Given the description of an element on the screen output the (x, y) to click on. 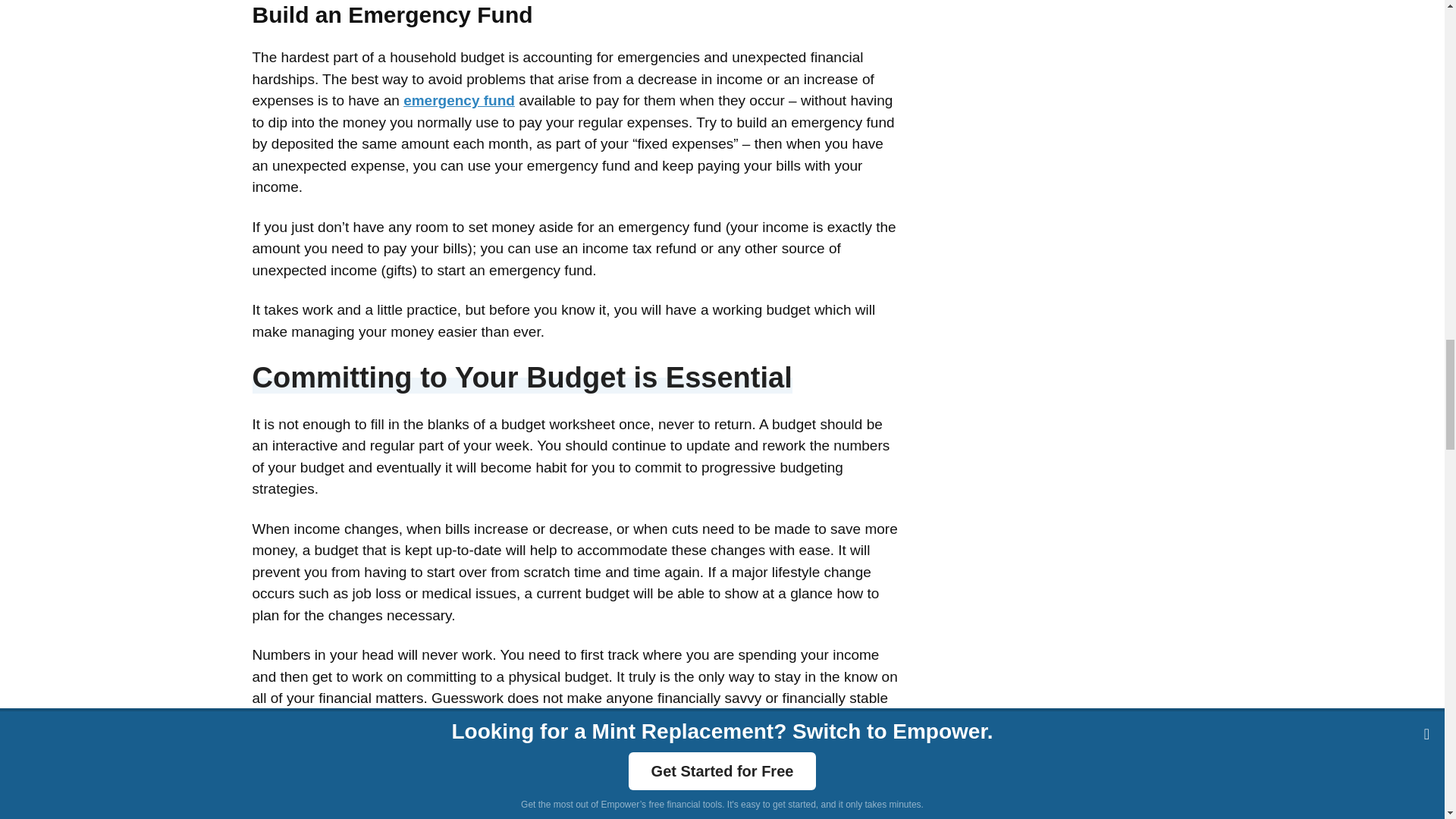
how to create an emergency fund (459, 100)
